Given the description of an element on the screen output the (x, y) to click on. 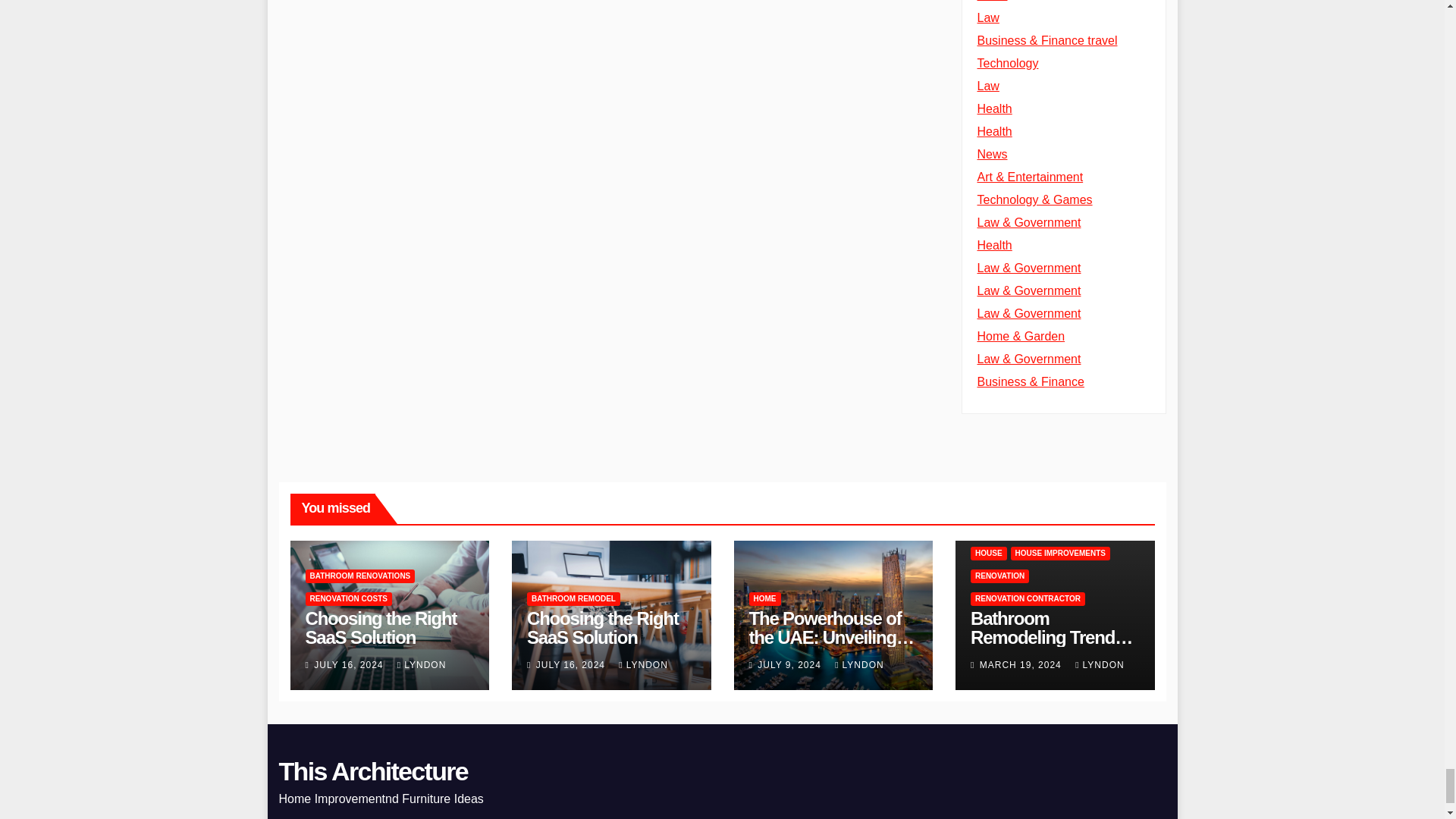
Permalink to: Choosing the Right SaaS Solution (602, 627)
Permalink to: Choosing the Right SaaS Solution (380, 627)
